Given the description of an element on the screen output the (x, y) to click on. 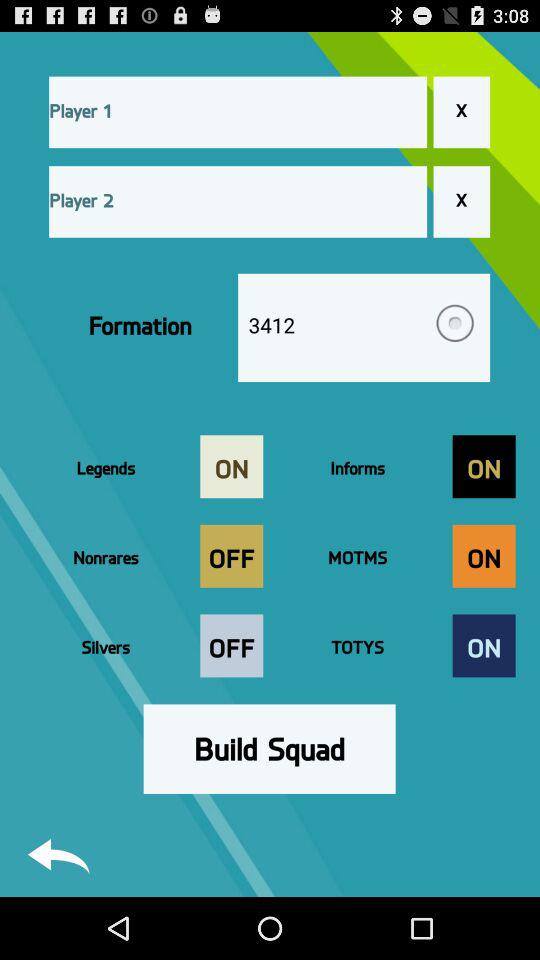
return (58, 856)
